Given the description of an element on the screen output the (x, y) to click on. 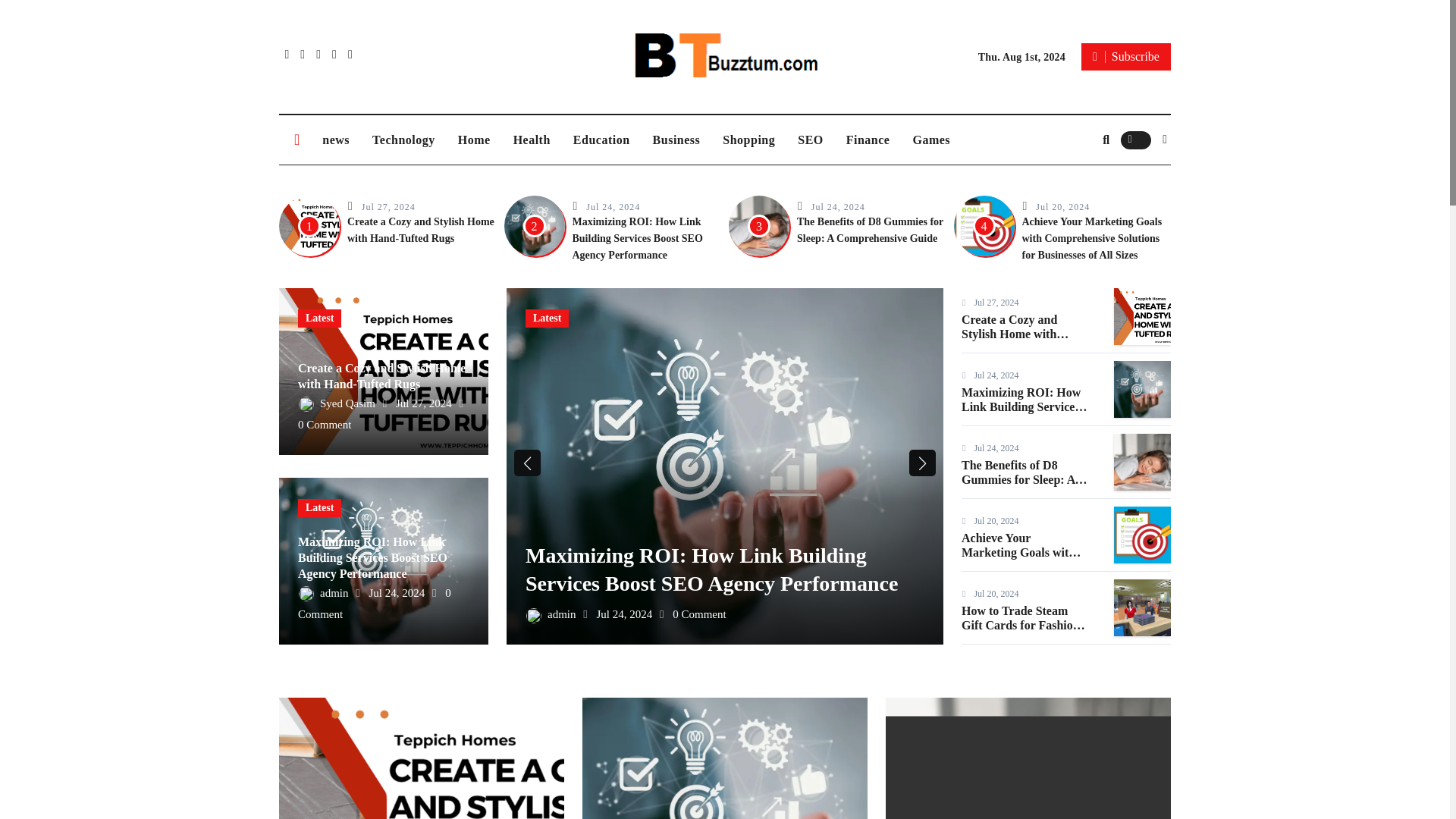
Health (532, 139)
Games (930, 139)
Home (474, 139)
Create a Cozy and Stylish Home with Hand-Tufted Rugs (421, 230)
Jul 24, 2024 (613, 206)
Technology (403, 139)
Finance (867, 139)
Education (602, 139)
Shopping (748, 139)
Health (532, 139)
Shopping (748, 139)
Technology (403, 139)
Jul 20, 2024 (1062, 206)
Jul 27, 2024 (387, 206)
Business (676, 139)
